Given the description of an element on the screen output the (x, y) to click on. 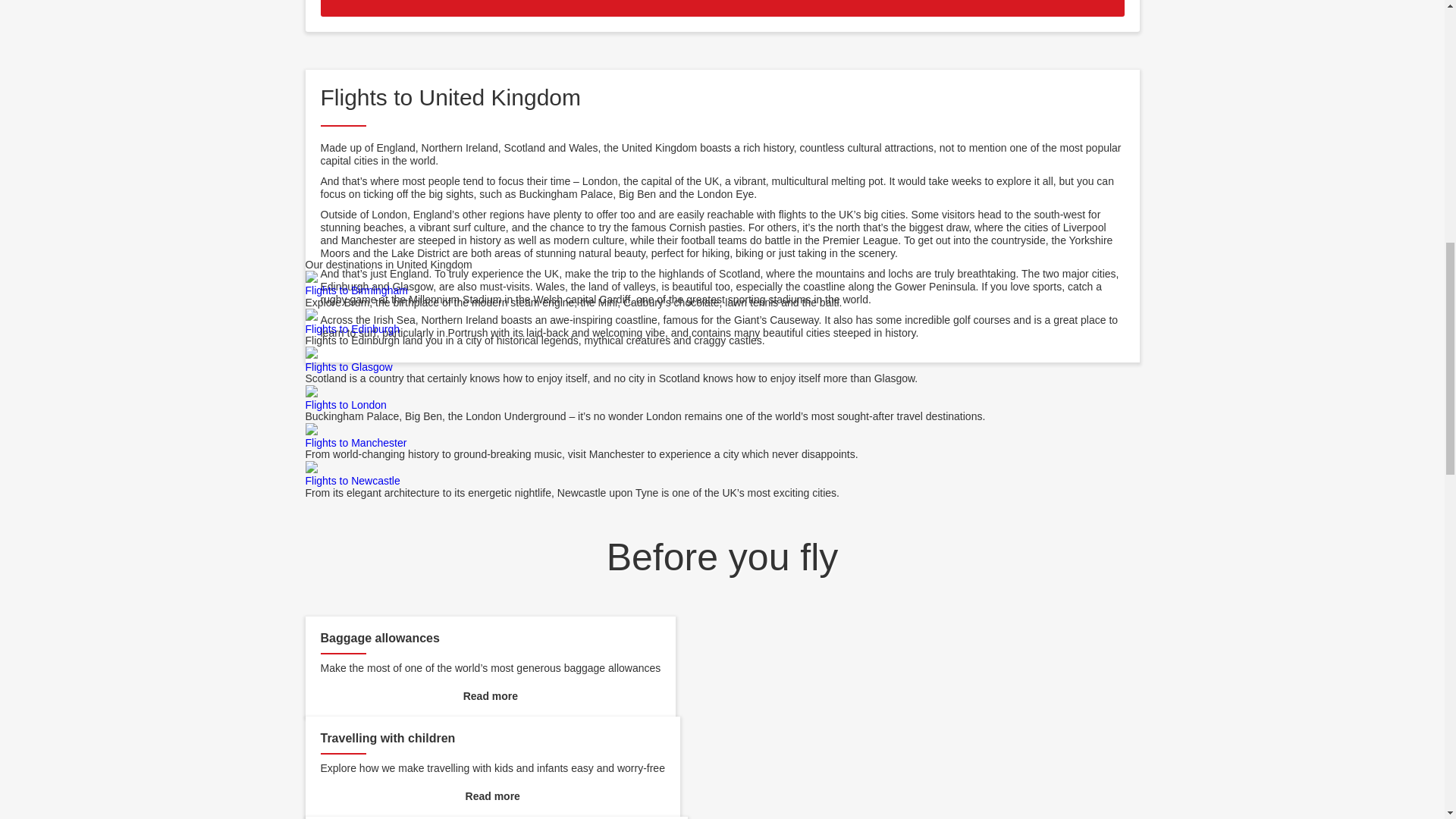
Read more (491, 796)
Read more (490, 696)
